Given the description of an element on the screen output the (x, y) to click on. 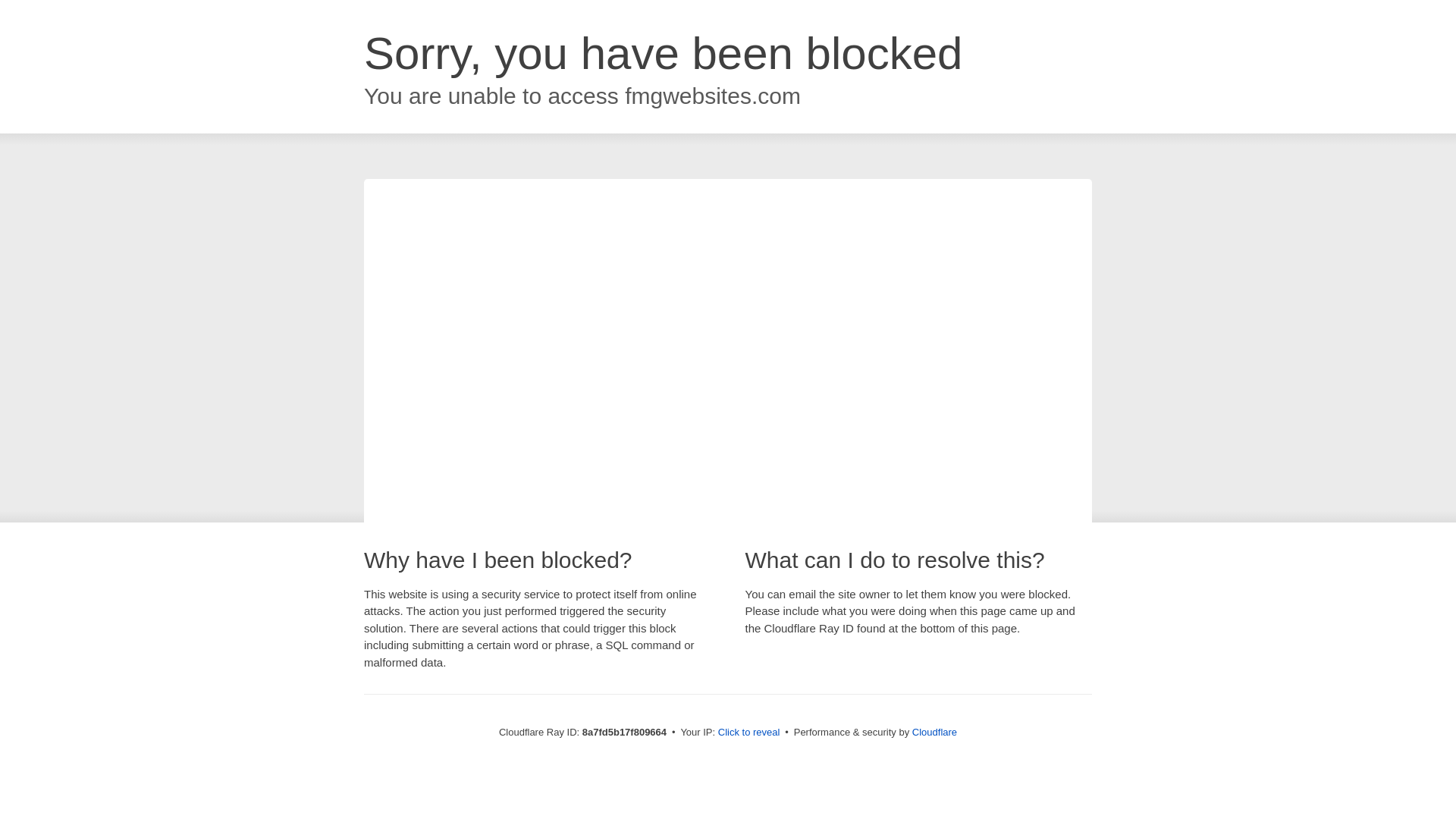
Cloudflare (934, 731)
Click to reveal (748, 732)
